Given the description of an element on the screen output the (x, y) to click on. 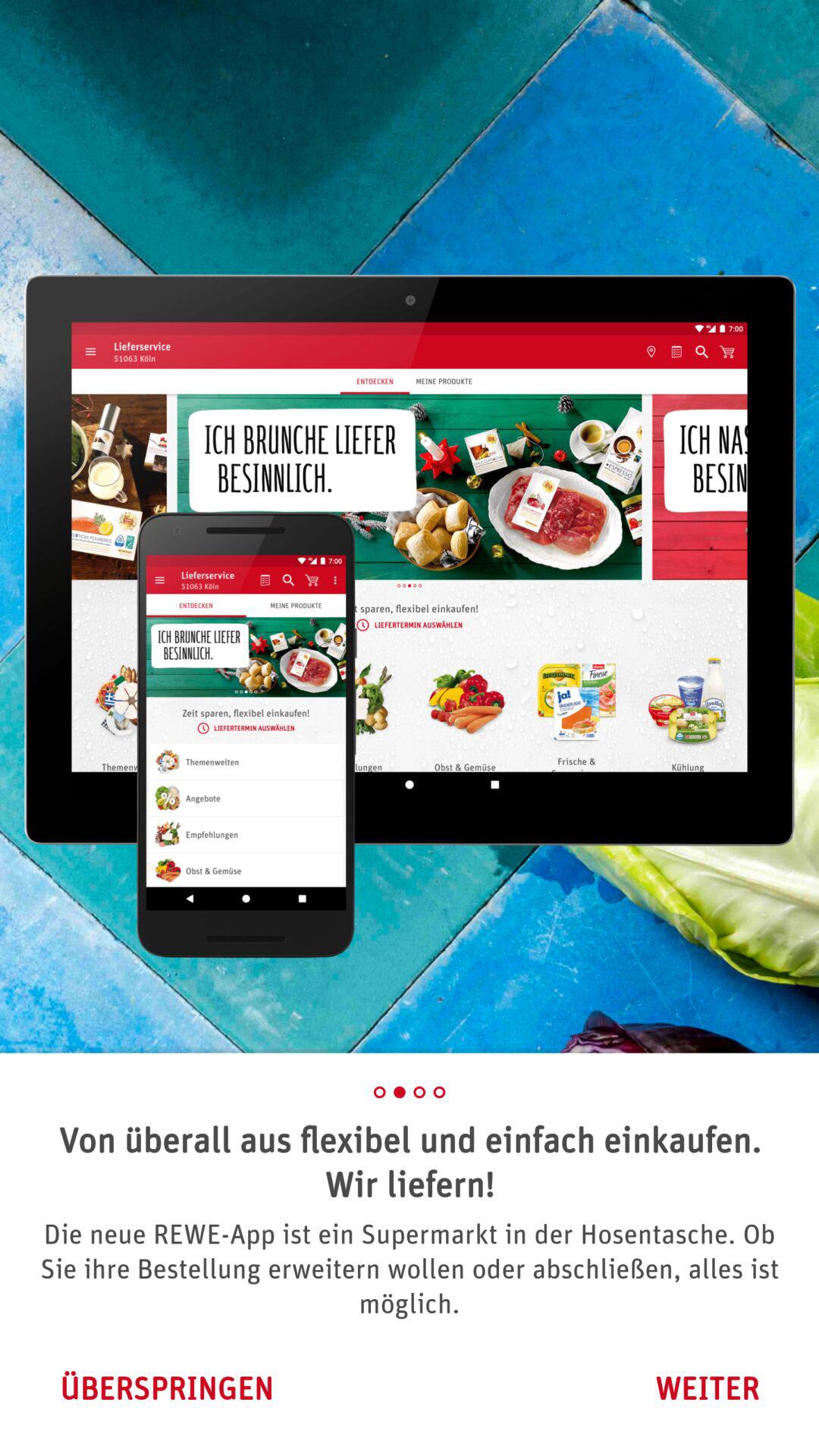
open the icon below the durch ortung oder item (166, 1388)
